Given the description of an element on the screen output the (x, y) to click on. 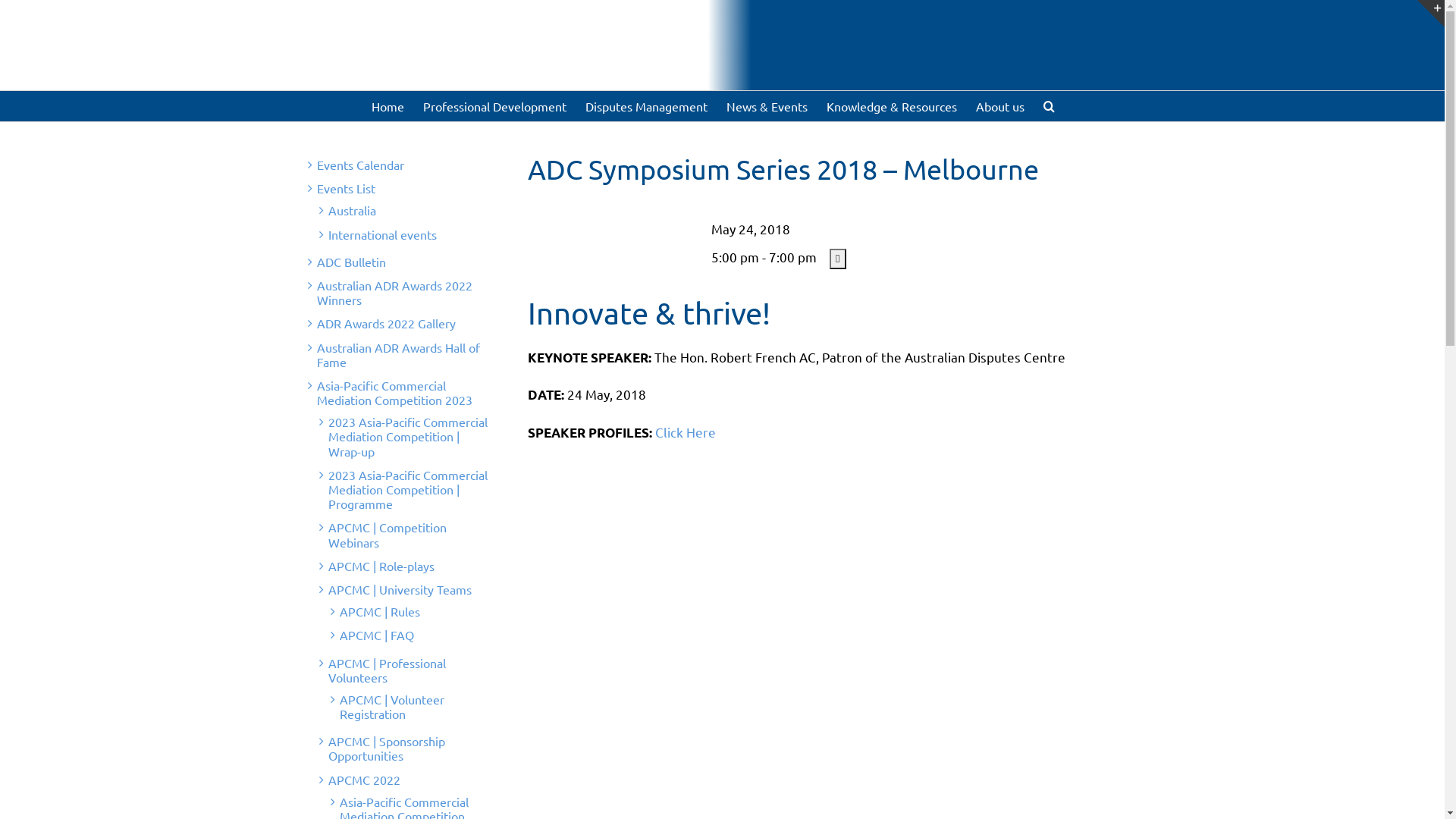
Home Element type: text (387, 106)
Australia Element type: text (351, 209)
APCMC | Competition Webinars Element type: text (386, 534)
2023 Asia-Pacific Commercial Mediation Competition | Wrap-up Element type: text (406, 436)
ADR Awards 2022 Gallery Element type: text (385, 322)
APCMC | Sponsorship Opportunities Element type: text (385, 747)
Australian ADR Awards Hall of Fame Element type: text (398, 354)
Events List Element type: text (345, 187)
Search Element type: hover (1048, 106)
APCMC | Rules Element type: text (379, 610)
Knowledge & Resources Element type: text (891, 106)
Professional Development Element type: text (494, 106)
APCMC | Professional Volunteers Element type: text (386, 669)
Disputes Management Element type: text (646, 106)
Asia-Pacific Commercial Mediation Competition 2023 Element type: text (394, 392)
APCMC 2022 Element type: text (363, 779)
Australian ADR Awards 2022 Winners Element type: text (394, 292)
International events Element type: text (381, 233)
APCMC | Role-plays Element type: text (380, 565)
Events Calendar Element type: text (360, 164)
Add to iCal Calendar Element type: hover (837, 258)
ADC Bulletin Element type: text (350, 261)
News & Events Element type: text (766, 106)
APCMC | Volunteer Registration Element type: text (391, 706)
APCMC | University Teams Element type: text (398, 588)
Toggle Sliding Bar Area Element type: text (1430, 13)
APCMC | FAQ Element type: text (376, 634)
About us Element type: text (999, 106)
Click Here Element type: text (685, 431)
